Given the description of an element on the screen output the (x, y) to click on. 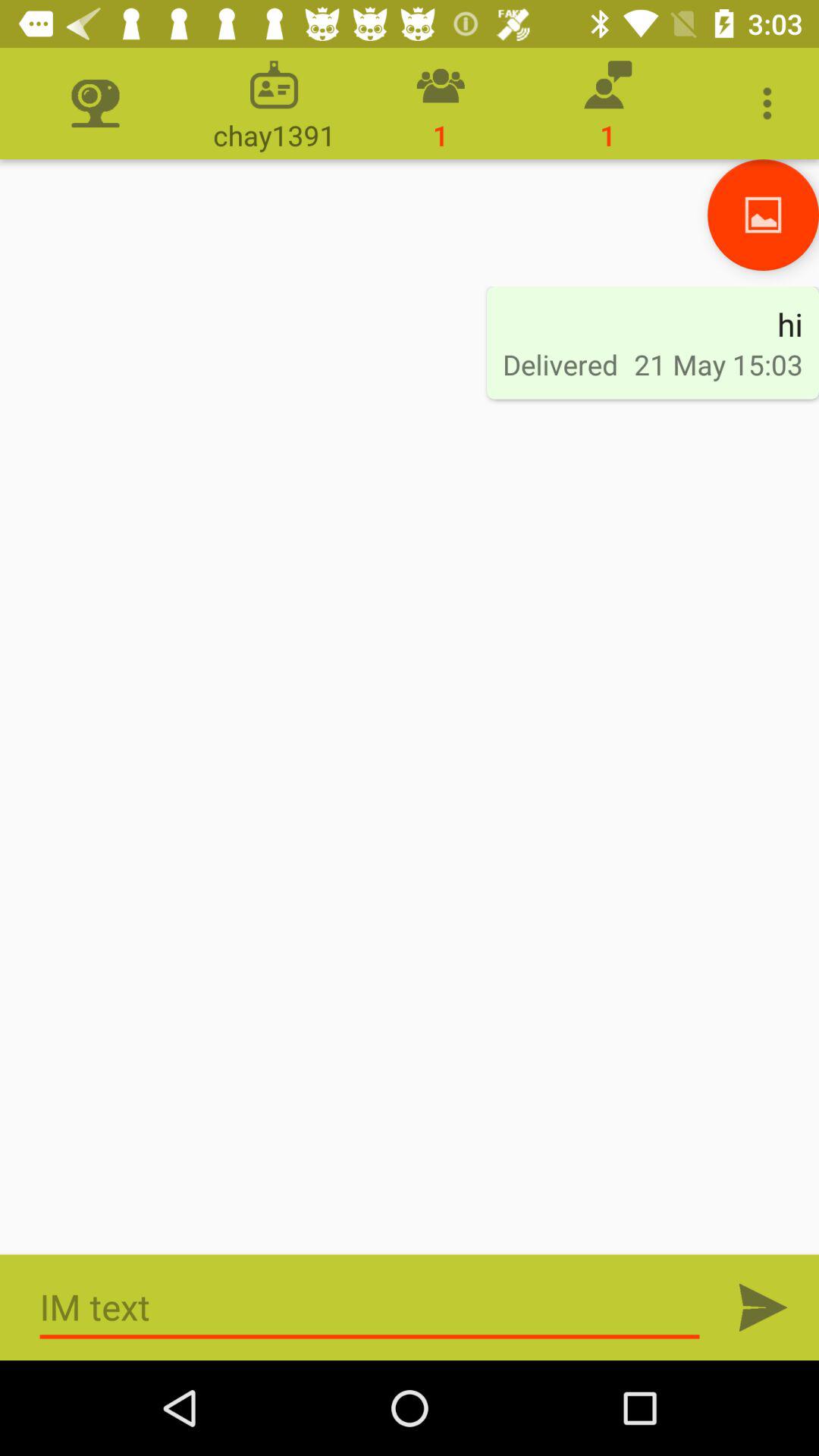
send (763, 1307)
